Given the description of an element on the screen output the (x, y) to click on. 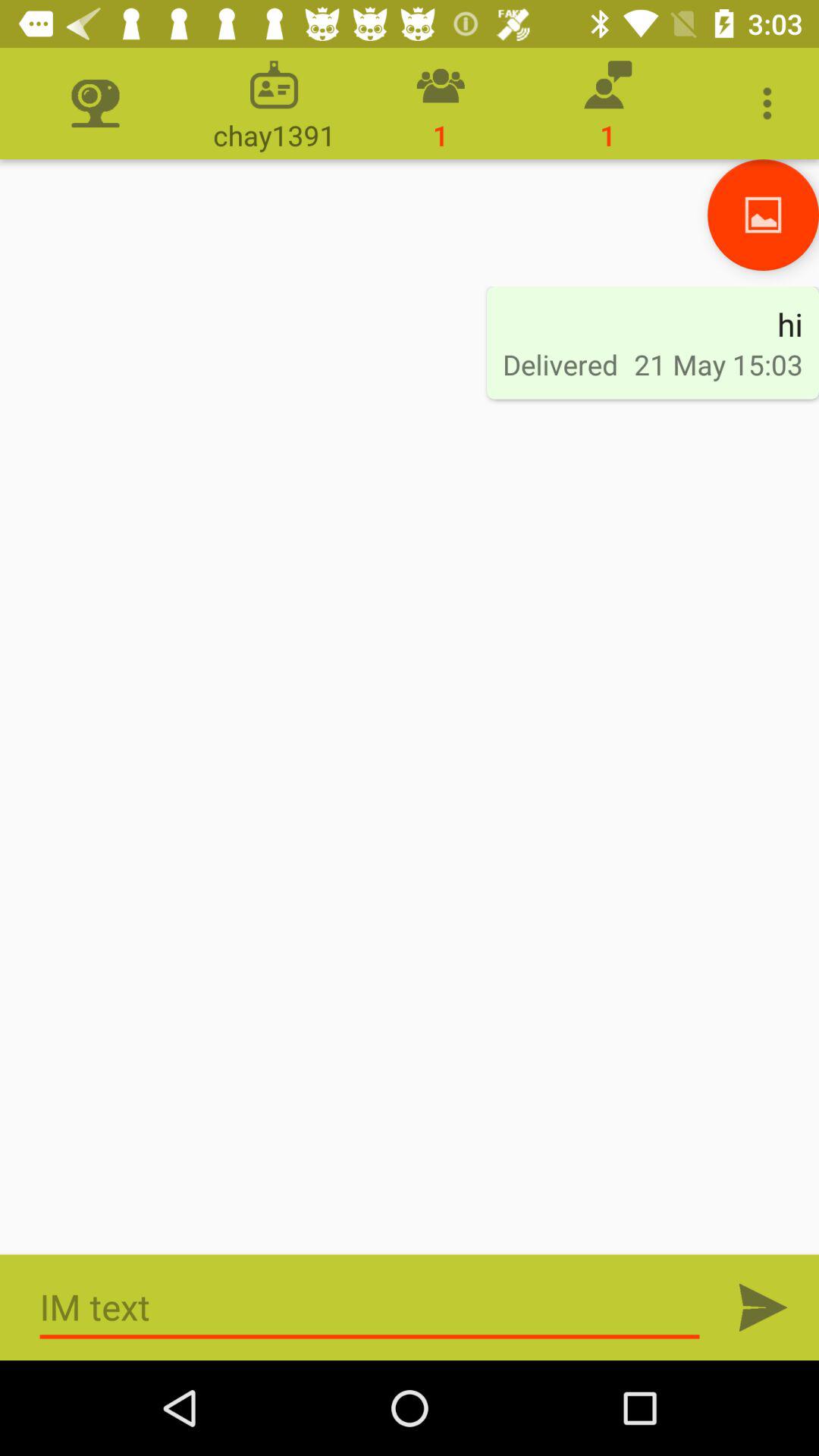
send (763, 1307)
